Given the description of an element on the screen output the (x, y) to click on. 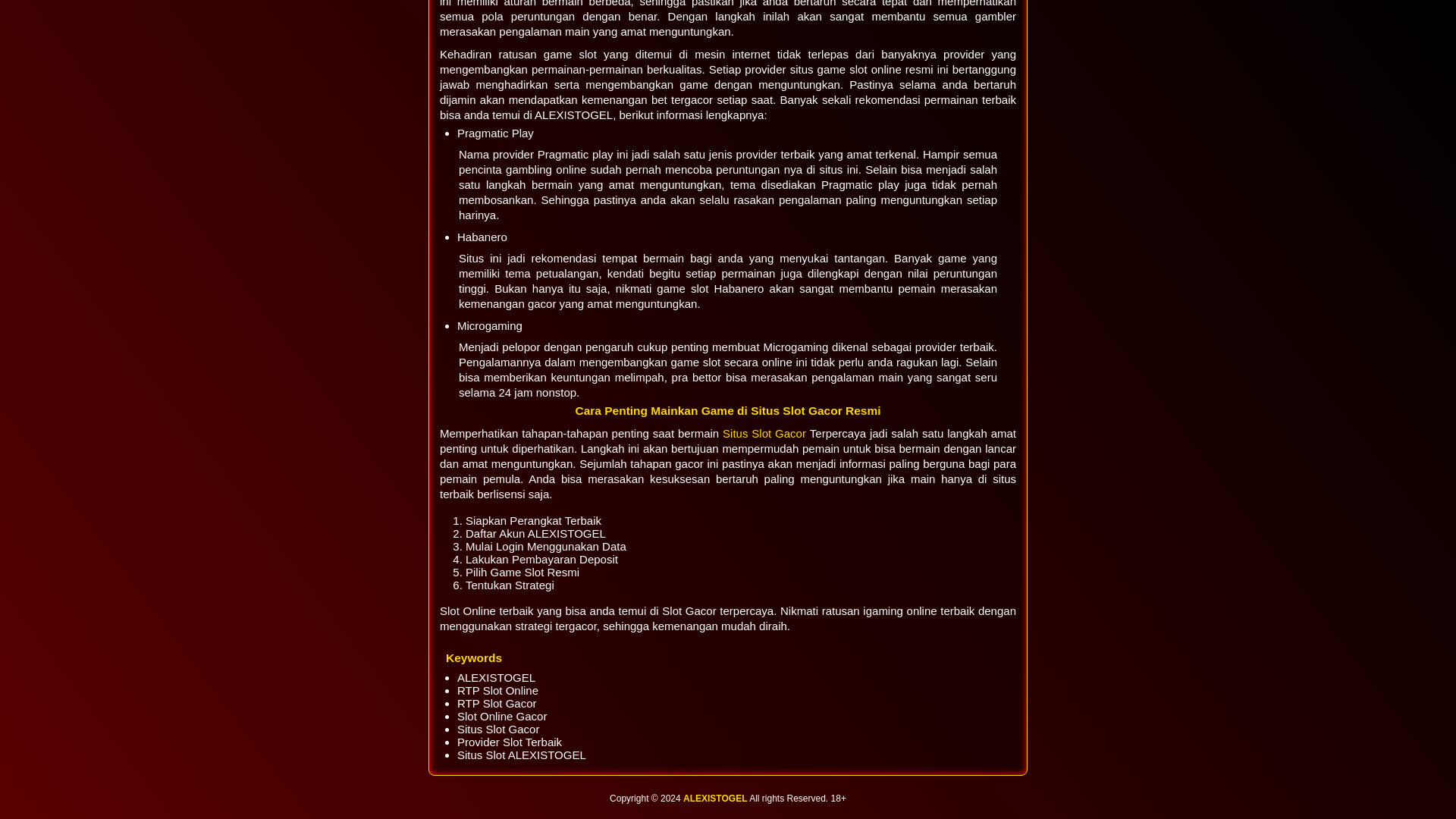
ALEXISTOGEL (714, 798)
Situs Slot Gacor (765, 432)
